Given the description of an element on the screen output the (x, y) to click on. 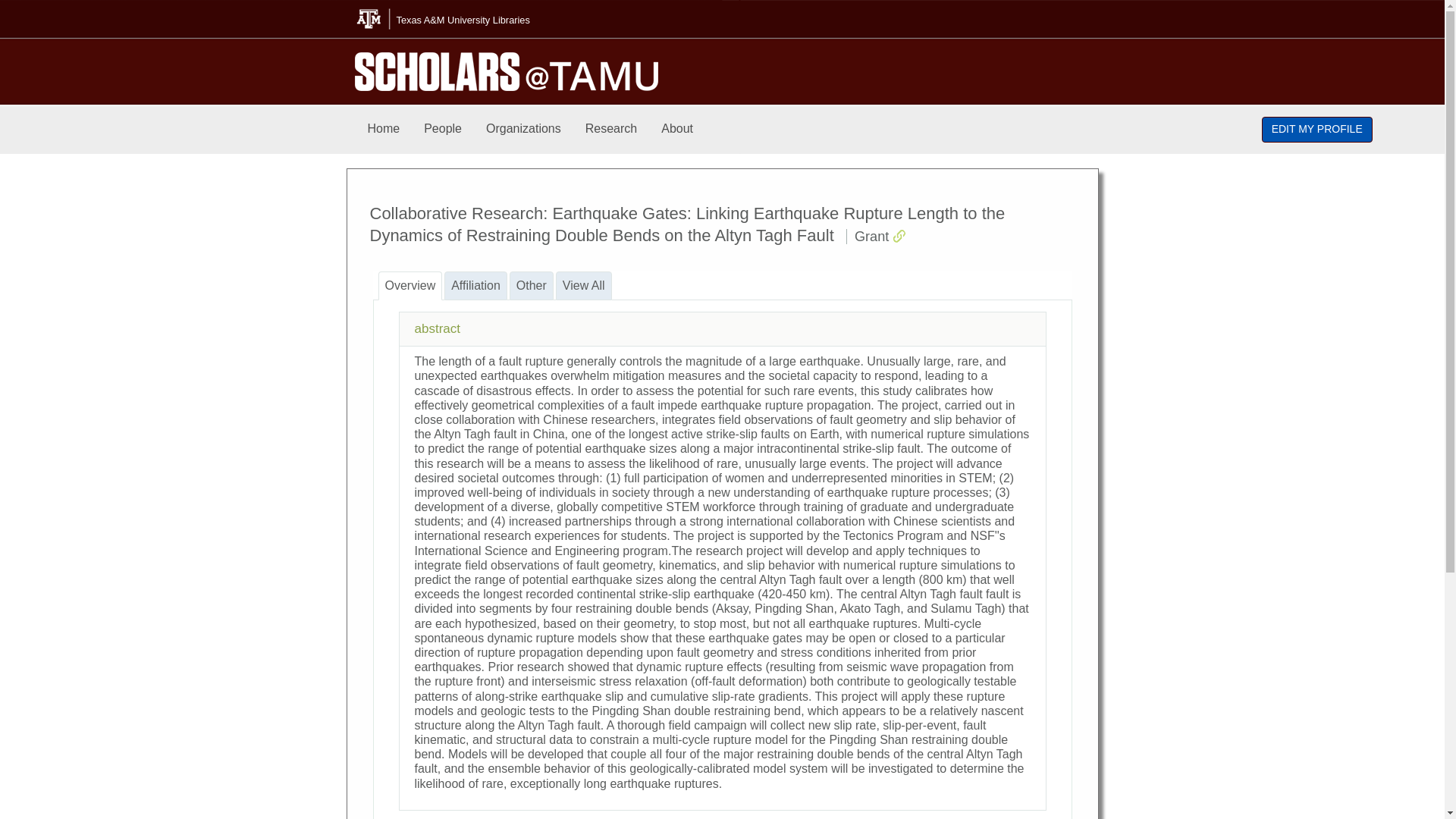
About (676, 128)
Organizations menu item (523, 128)
Home menu item (383, 128)
EDIT MY PROFILE (1317, 129)
Home (383, 128)
About menu item (676, 128)
Research (611, 128)
Organizations (523, 128)
People (443, 128)
People menu item (443, 128)
Research menu item (611, 128)
